Given the description of an element on the screen output the (x, y) to click on. 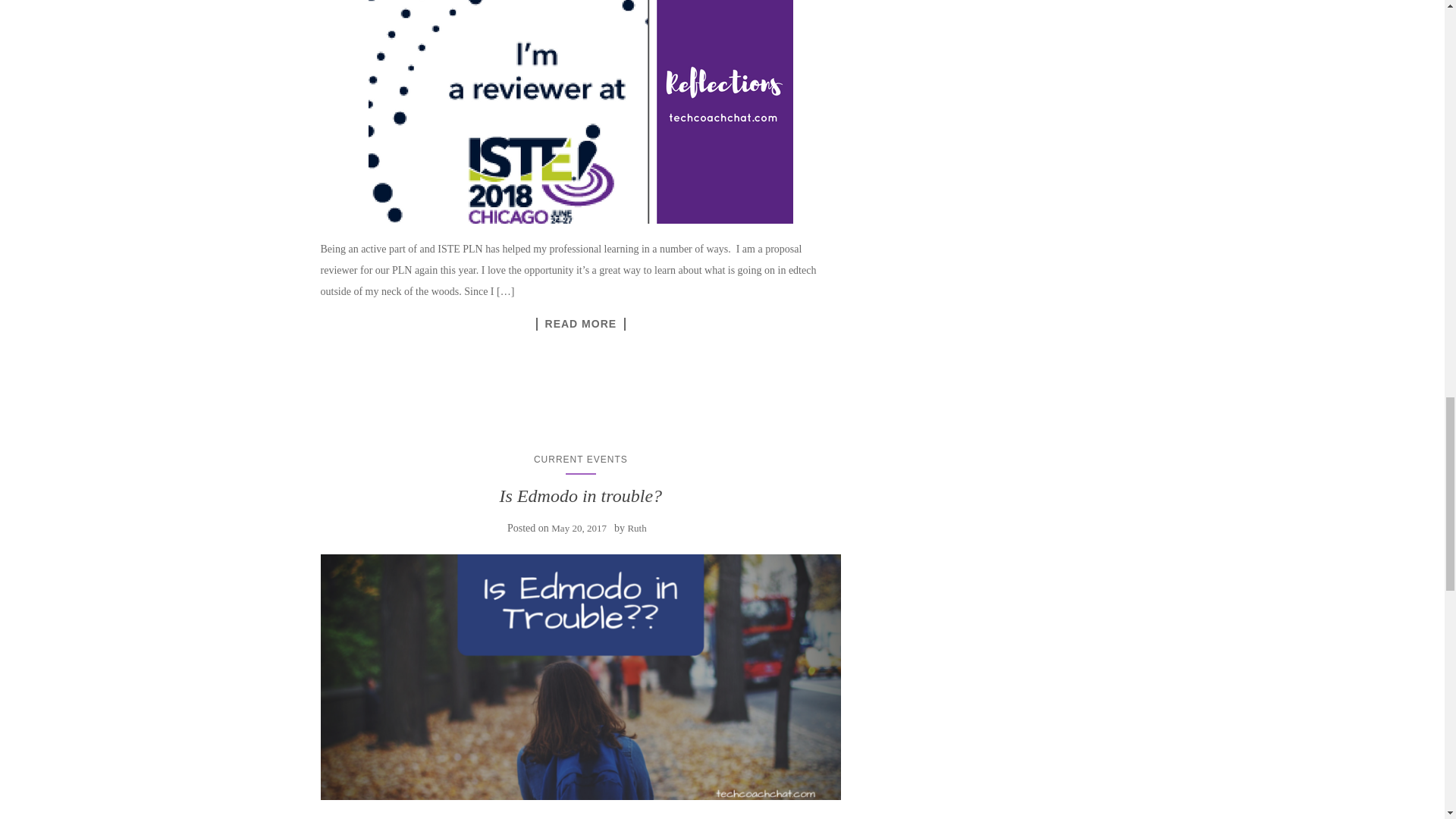
May 20, 2017 (579, 527)
Reflections: ISTE Review process (580, 111)
Ruth (636, 527)
CURRENT EVENTS (580, 459)
Reflections: ISTE Review process (580, 323)
READ MORE (580, 323)
Is Edmodo in trouble? (580, 677)
Is Edmodo in trouble? (580, 496)
